Given the description of an element on the screen output the (x, y) to click on. 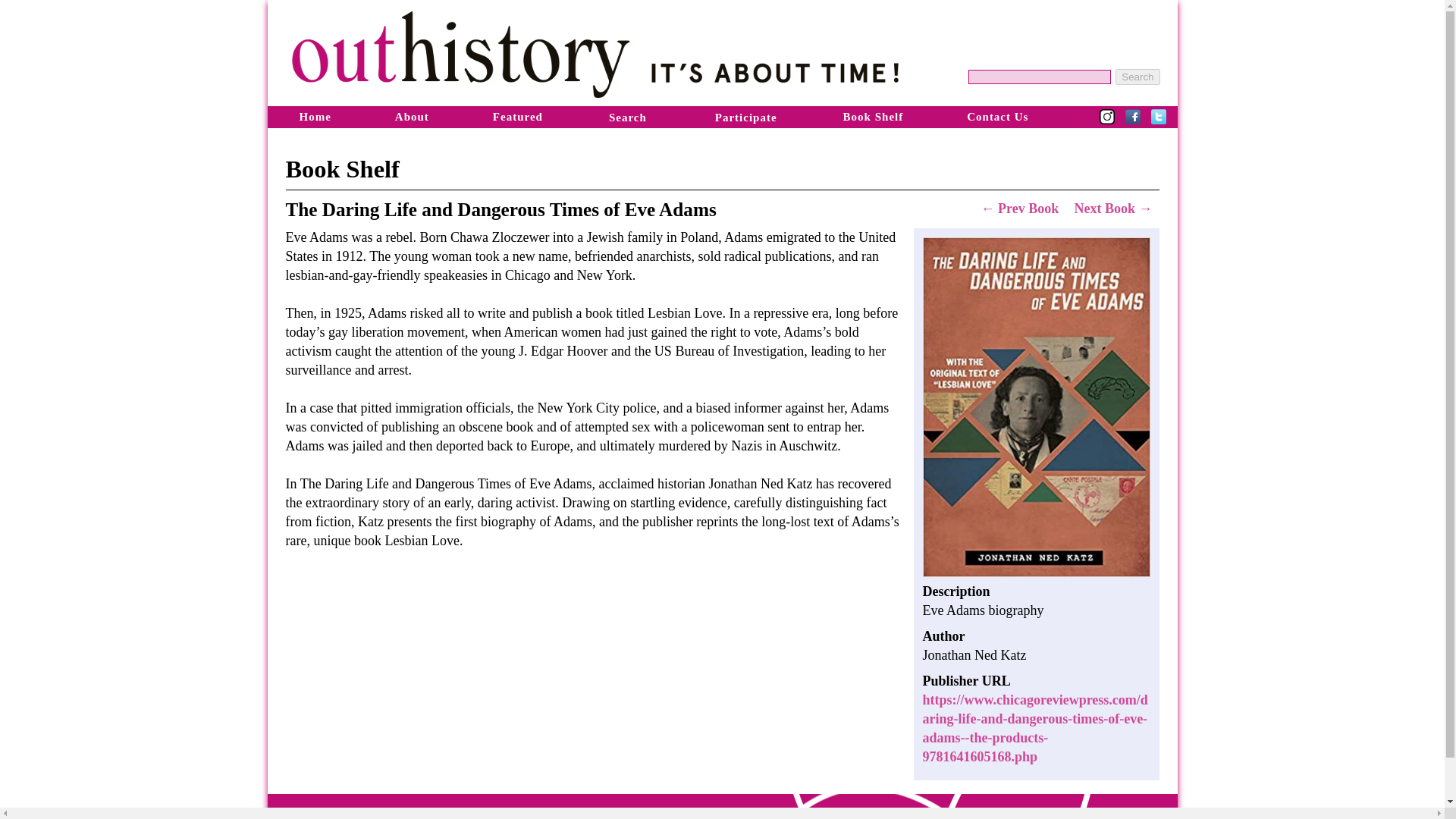
Featured (518, 116)
Home (314, 116)
Search (628, 116)
Book Shelf (873, 116)
Contact Us (669, 813)
Terms of Use (420, 813)
Contributor Guidelines (547, 813)
Participate (745, 116)
About (411, 116)
Search (1136, 76)
